Given the description of an element on the screen output the (x, y) to click on. 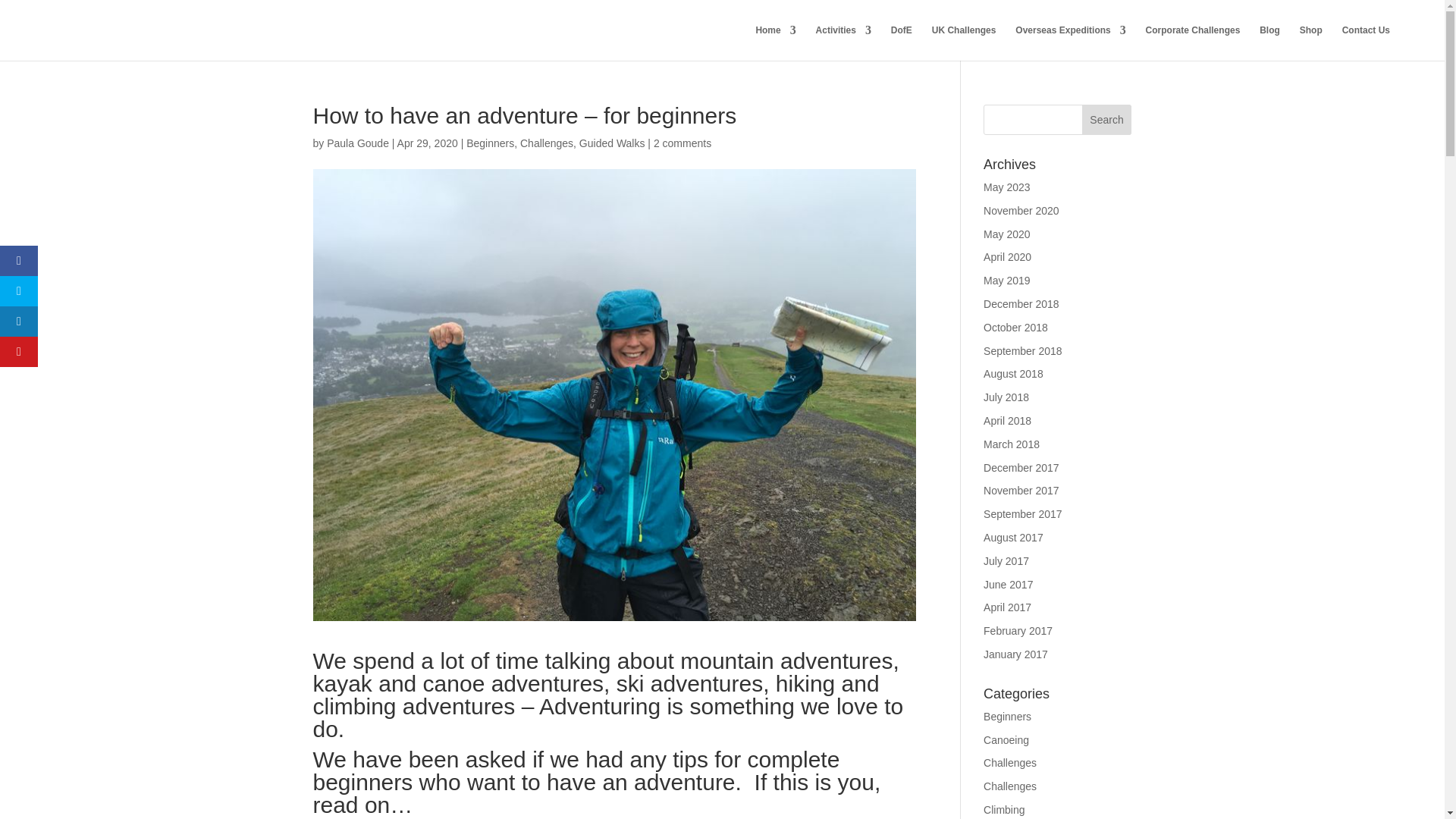
Overseas Expeditions (1069, 42)
Contact Us (1366, 42)
Corporate Challenges (1192, 42)
Home (774, 42)
Activities (842, 42)
Posts by Paula Goude (357, 143)
Paula Goude (357, 143)
UK Challenges (963, 42)
Search (1106, 119)
